Given the description of an element on the screen output the (x, y) to click on. 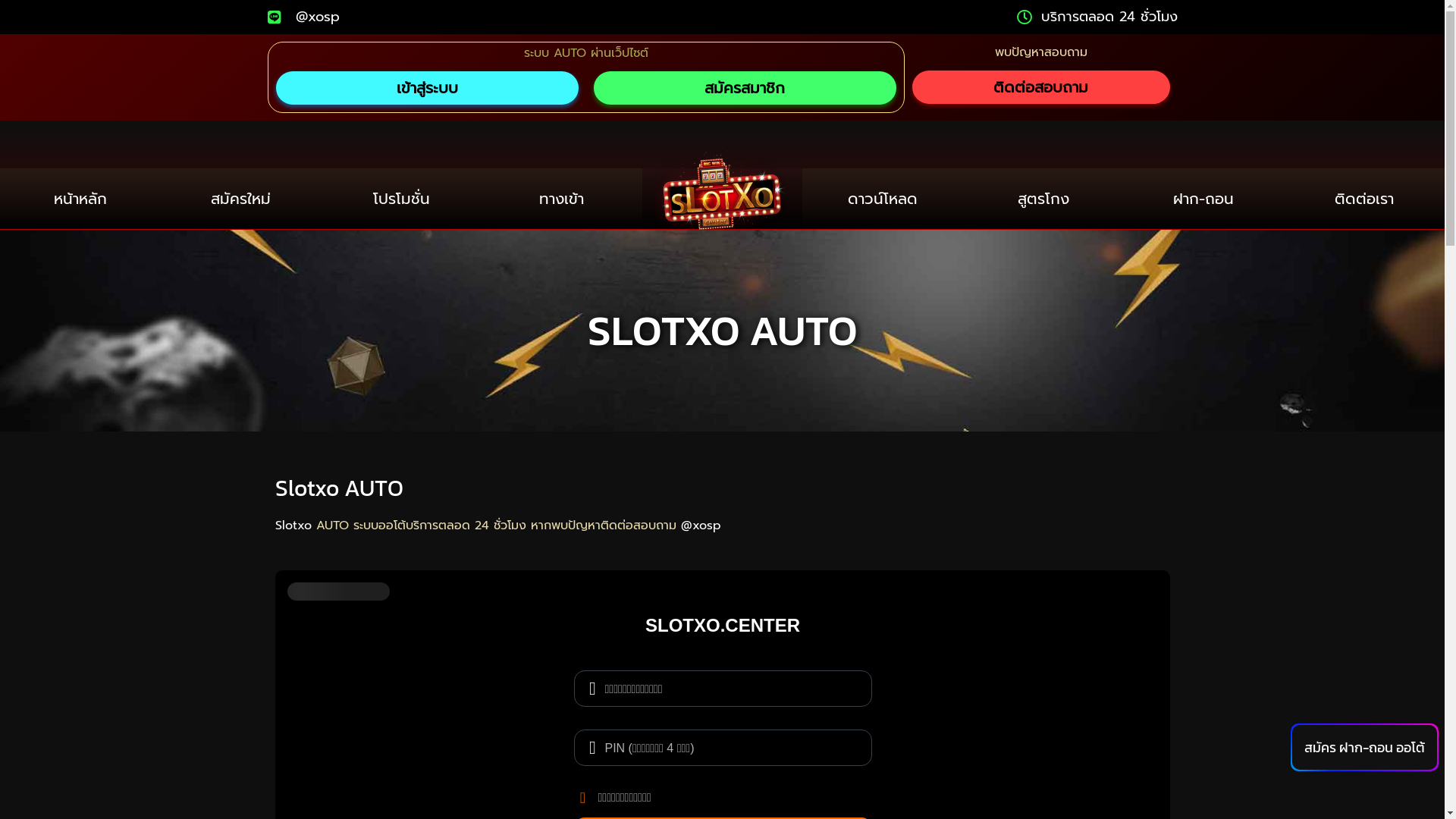
@xosp Element type: text (700, 525)
@xosp Element type: text (302, 17)
Slotxo Element type: text (292, 525)
